Given the description of an element on the screen output the (x, y) to click on. 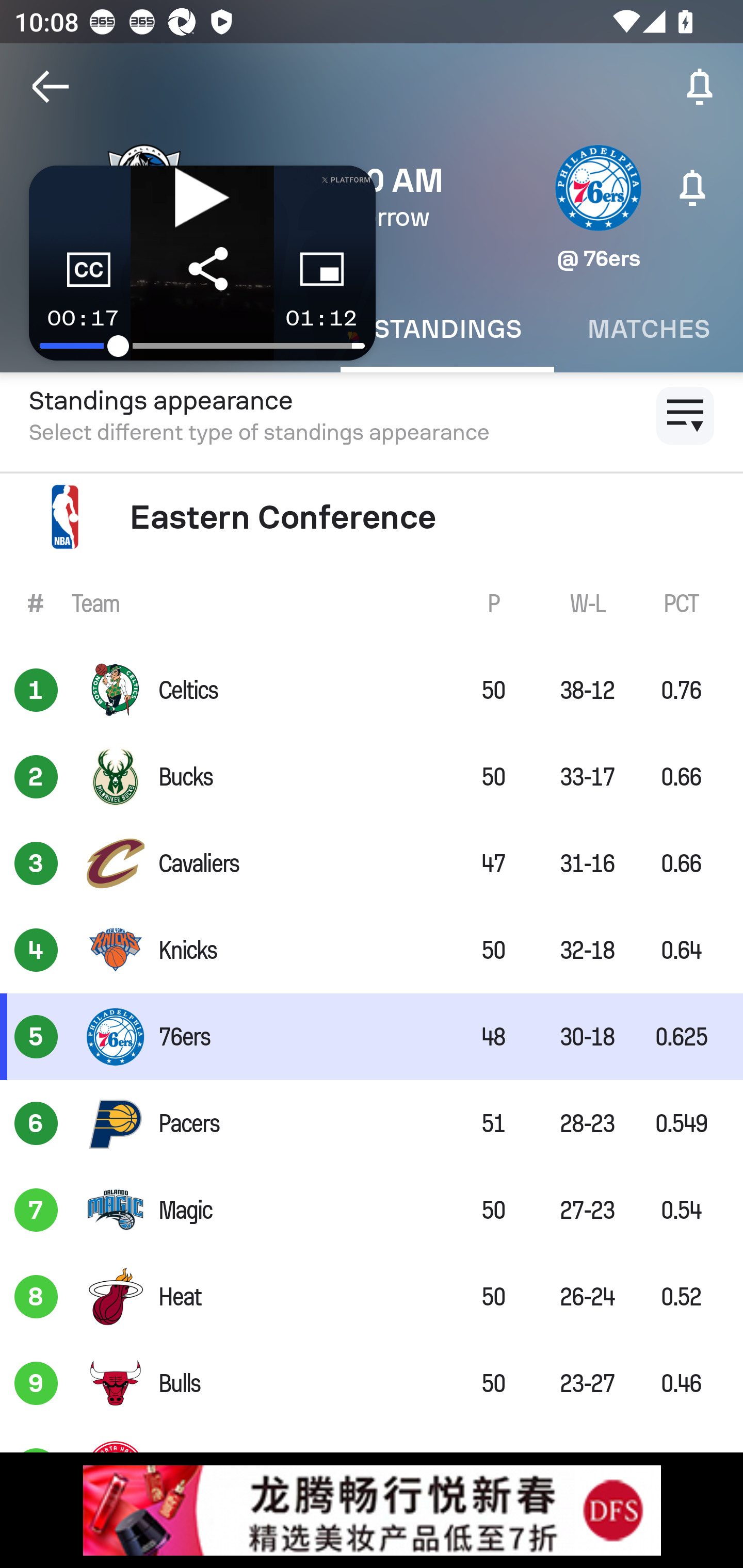
Navigate up (50, 86)
Matches MATCHES (648, 329)
Eastern Conference (371, 516)
# Team P W-L PCT (371, 602)
1 Celtics 50 38-12 0.76 (371, 689)
1 (36, 689)
2 Bucks 50 33-17 0.66 (371, 776)
2 (36, 776)
3 Cavaliers 47 31-16 0.66 (371, 863)
3 (36, 863)
4 Knicks 50 32-18 0.64 (371, 950)
4 (36, 950)
5 76ers 48 30-18 0.625 (371, 1037)
5 (36, 1037)
6 Pacers 51 28-23 0.549 (371, 1123)
6 (36, 1123)
7 Magic 50 27-23 0.54 (371, 1209)
7 (36, 1209)
8 Heat 50 26-24 0.52 (371, 1296)
8 (36, 1296)
9 Bulls 50 23-27 0.46 (371, 1383)
9 (36, 1383)
